Given the description of an element on the screen output the (x, y) to click on. 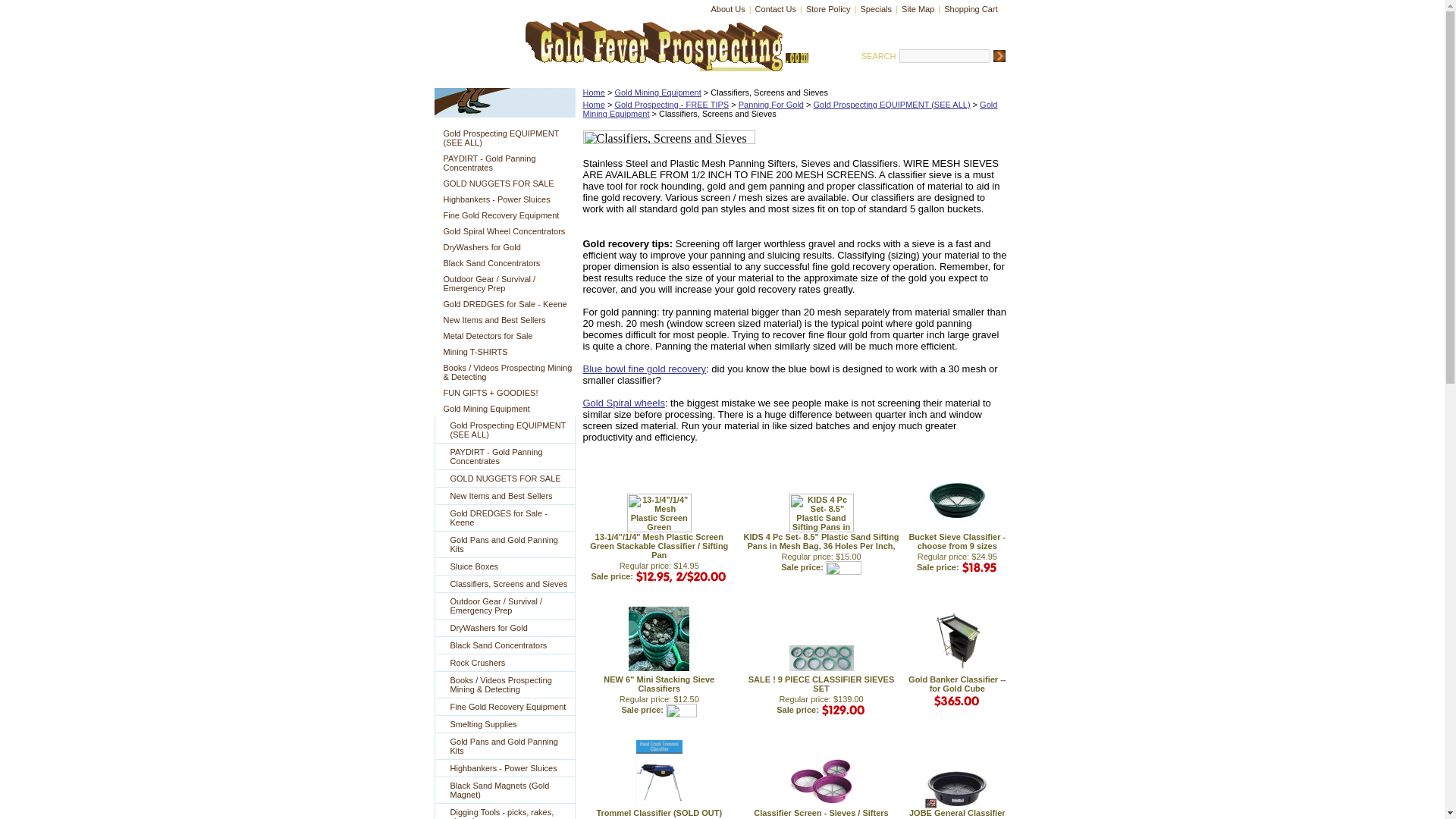
Contact Us (775, 8)
Classifiers, Screens and Sieves (505, 583)
Fine Gold Recovery Equipment (505, 706)
Metal Detectors for Sale (504, 335)
Shopping Cart (970, 8)
Site Map (917, 8)
New Items and Best Sellers (504, 319)
PAYDIRT - Gold Panning Concentrates (505, 456)
GOLD NUGGETS FOR SALE (505, 478)
Black Sand Concentrators (505, 645)
